Given the description of an element on the screen output the (x, y) to click on. 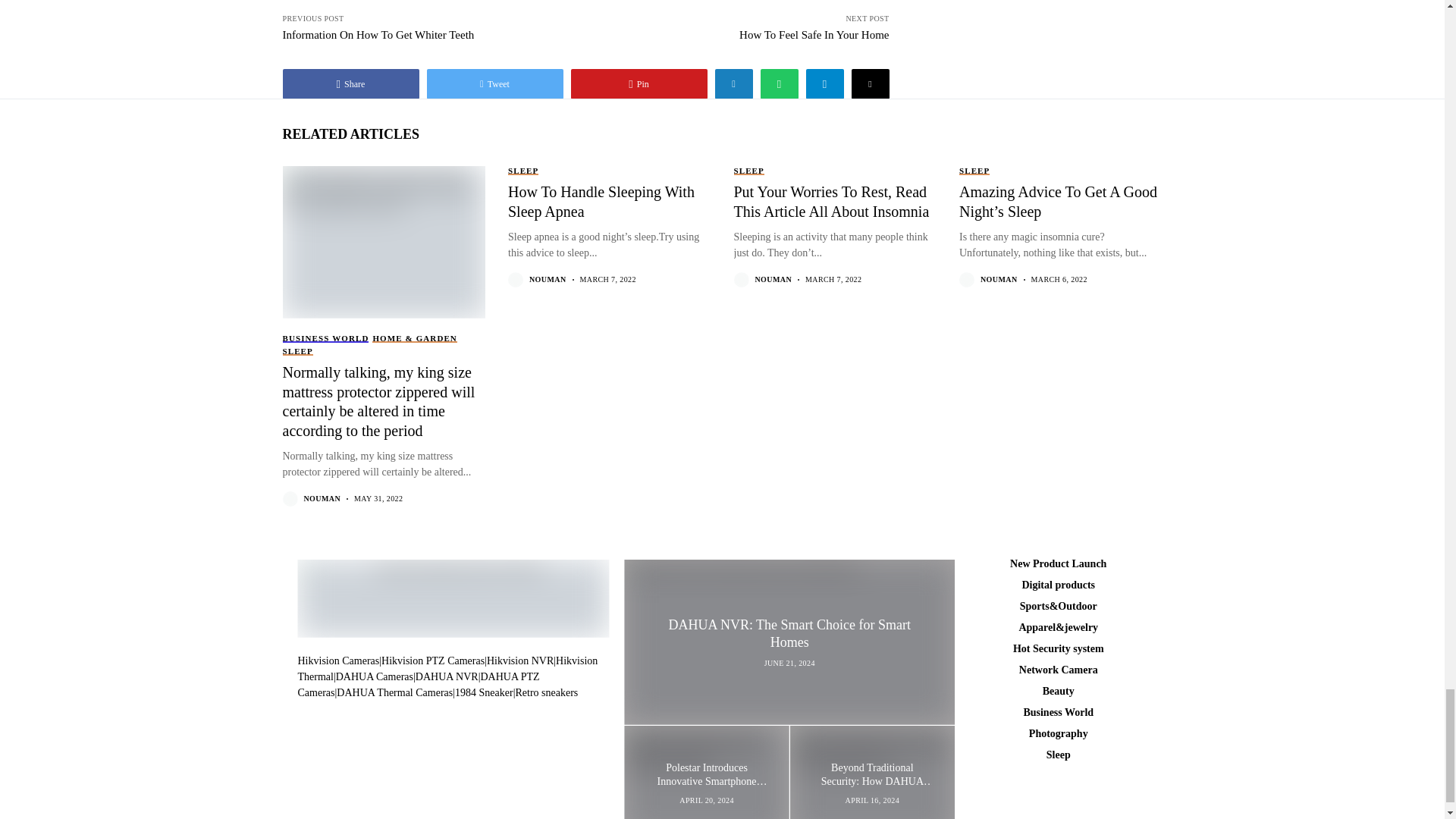
HIKVISION NVR (519, 660)
Posts by Nouman (998, 279)
Posts by Nouman (321, 498)
HIKVISION PTZ Cameras (432, 660)
Posts by Nouman (547, 279)
HIKVISION Cameras (337, 660)
Posts by Nouman (773, 279)
HIKVISION NVR (446, 668)
